Given the description of an element on the screen output the (x, y) to click on. 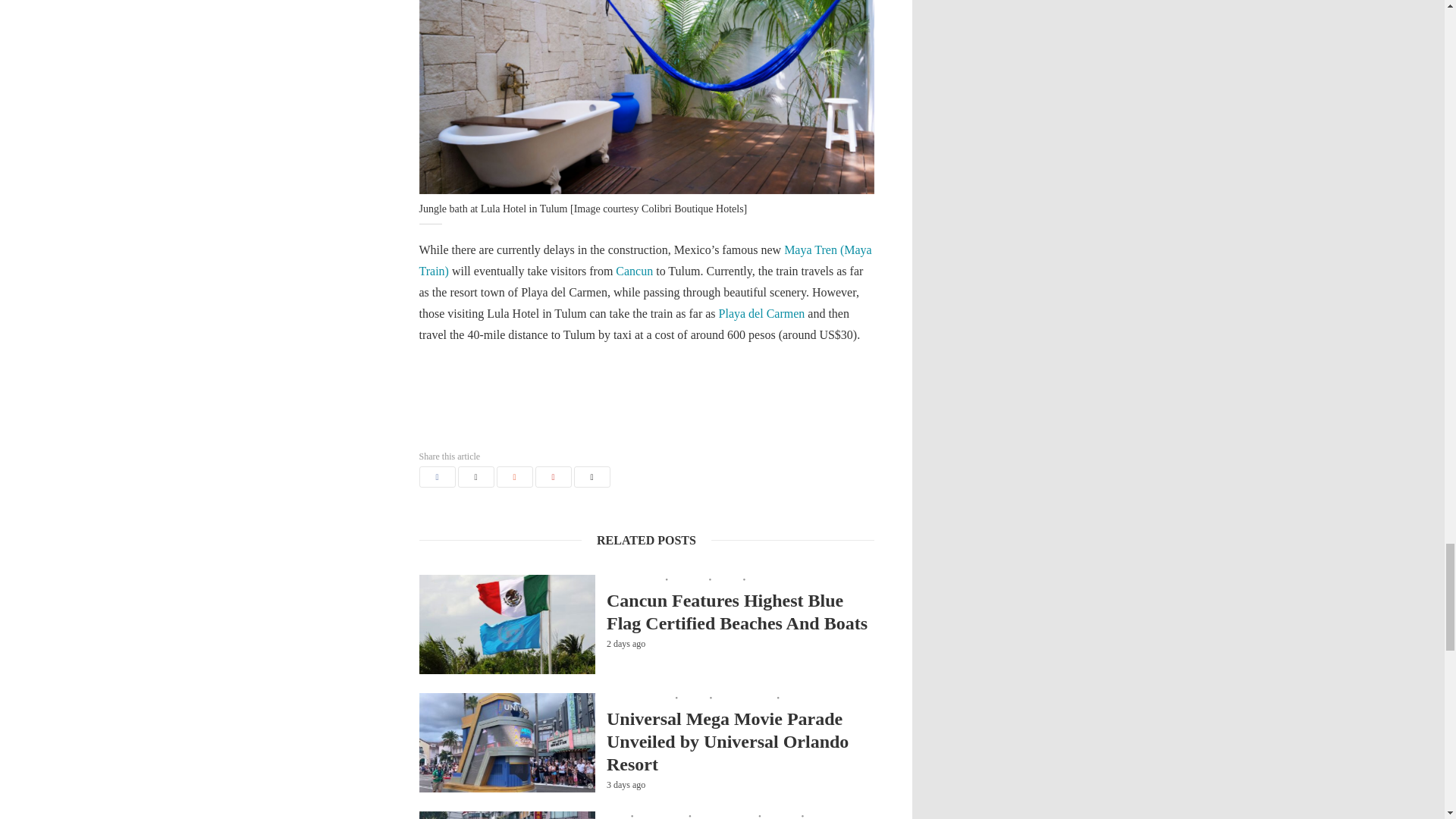
Cancun (633, 270)
Playa del Carmen (762, 313)
